Given the description of an element on the screen output the (x, y) to click on. 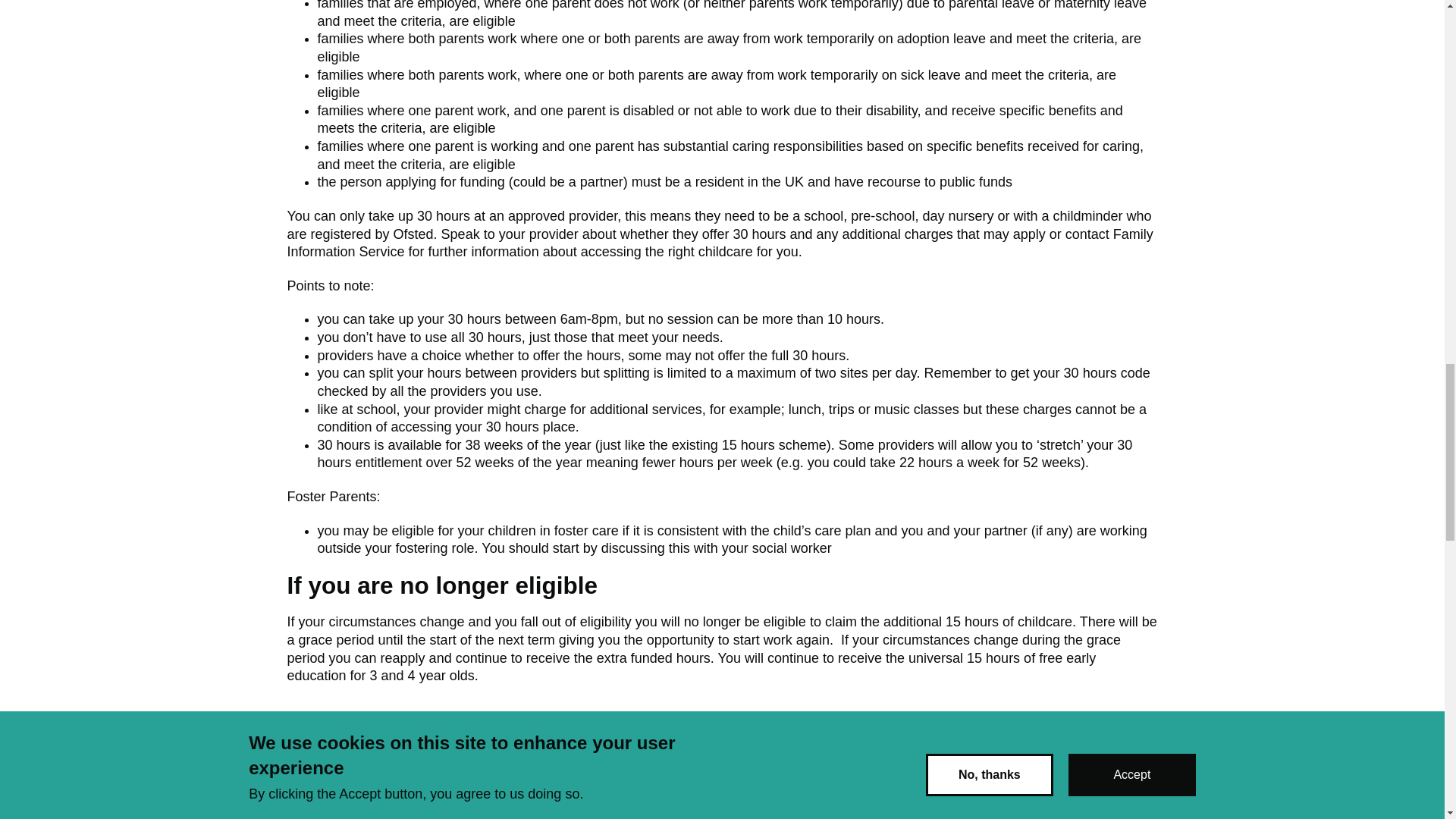
Barking and Dagenham Early Years provision (721, 760)
